Given the description of an element on the screen output the (x, y) to click on. 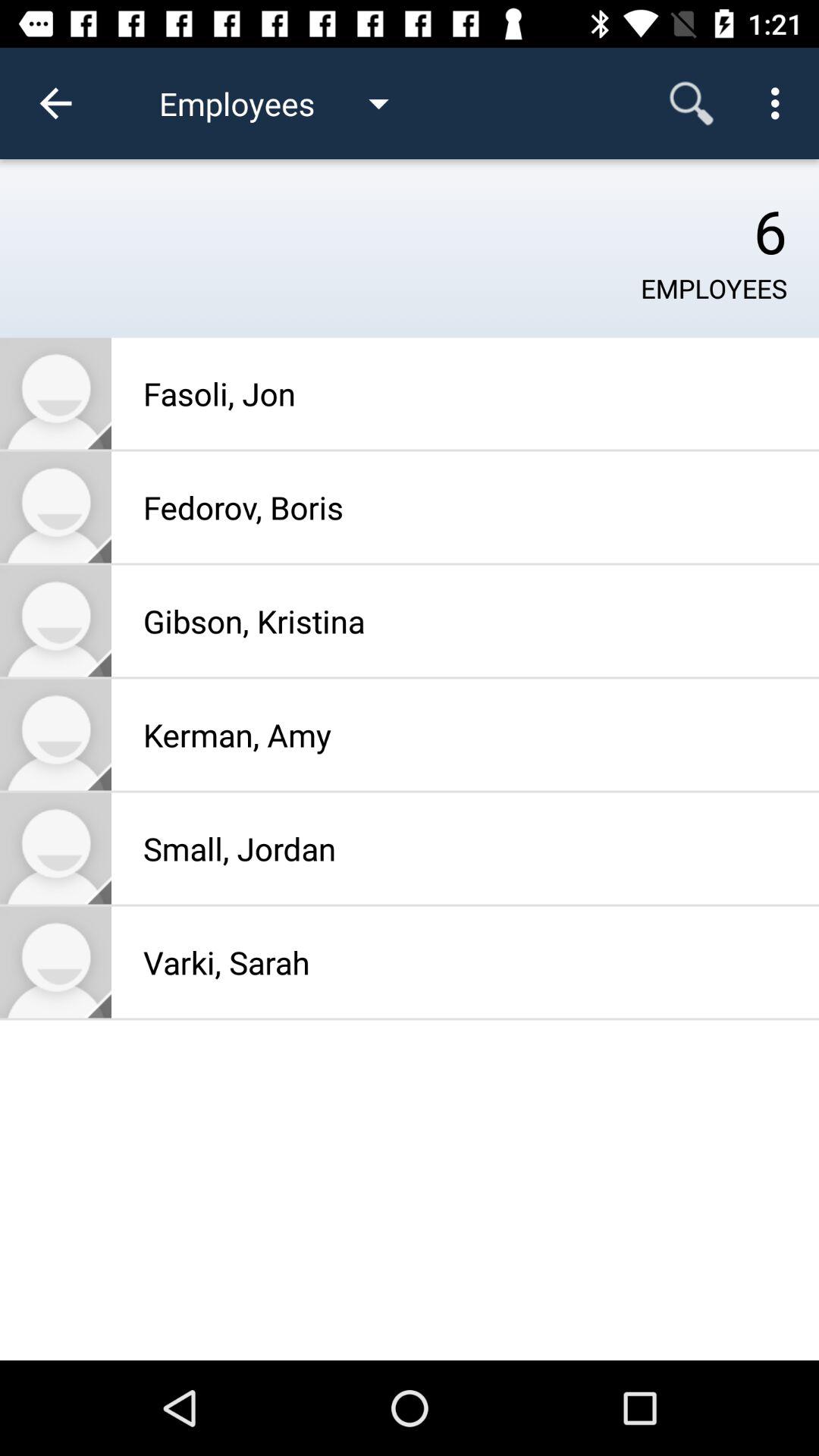
click to go to contact information (55, 848)
